Given the description of an element on the screen output the (x, y) to click on. 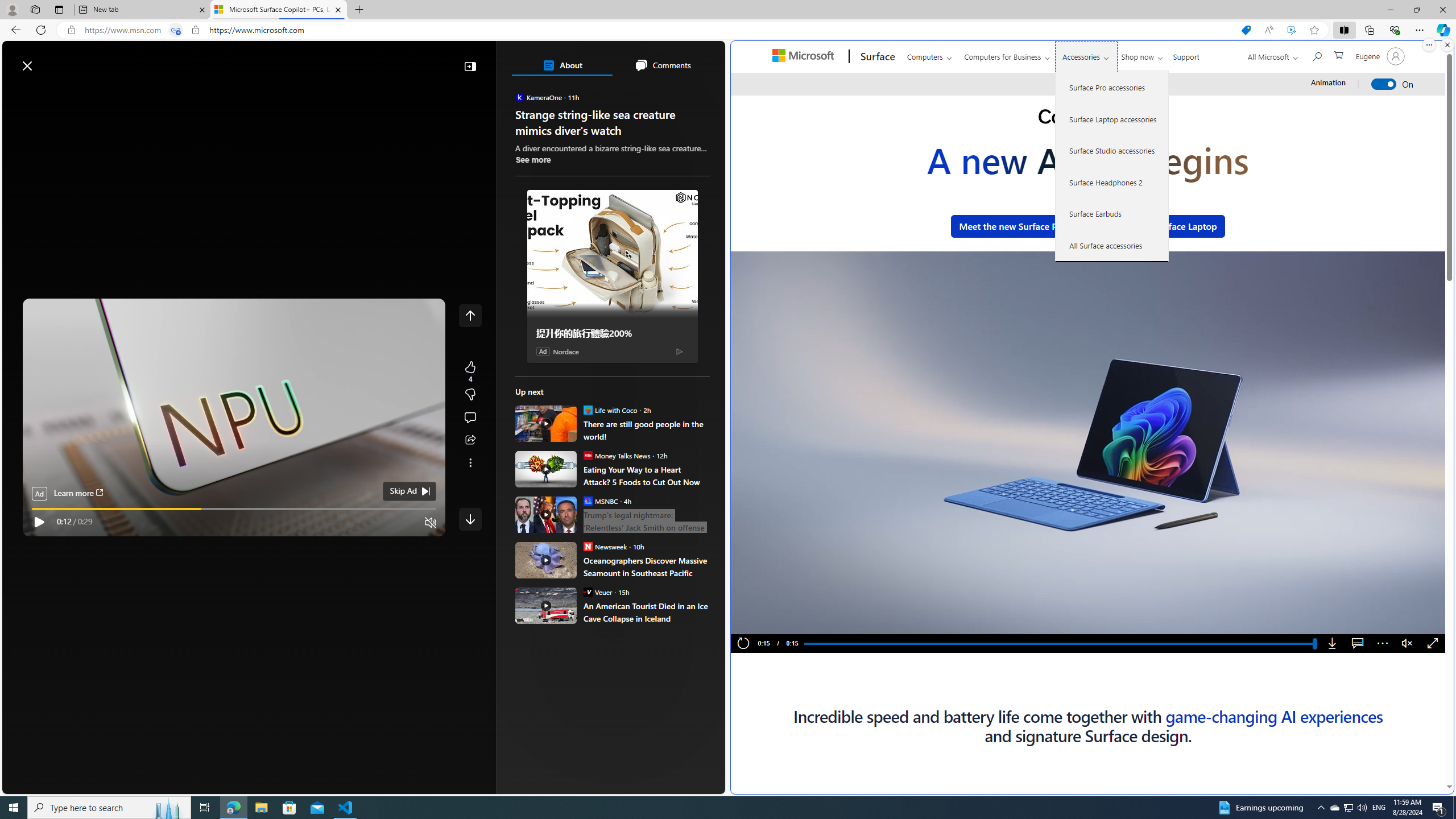
Surface (876, 56)
Surface Studio accessories (1112, 150)
There are still good people in the world! (646, 430)
Dislike (469, 394)
More like this4Fewer like thisStart the conversation (469, 394)
Surface Headphones 2 (1112, 182)
video progress bar (234, 509)
Class: button-glyph (16, 92)
